Given the description of an element on the screen output the (x, y) to click on. 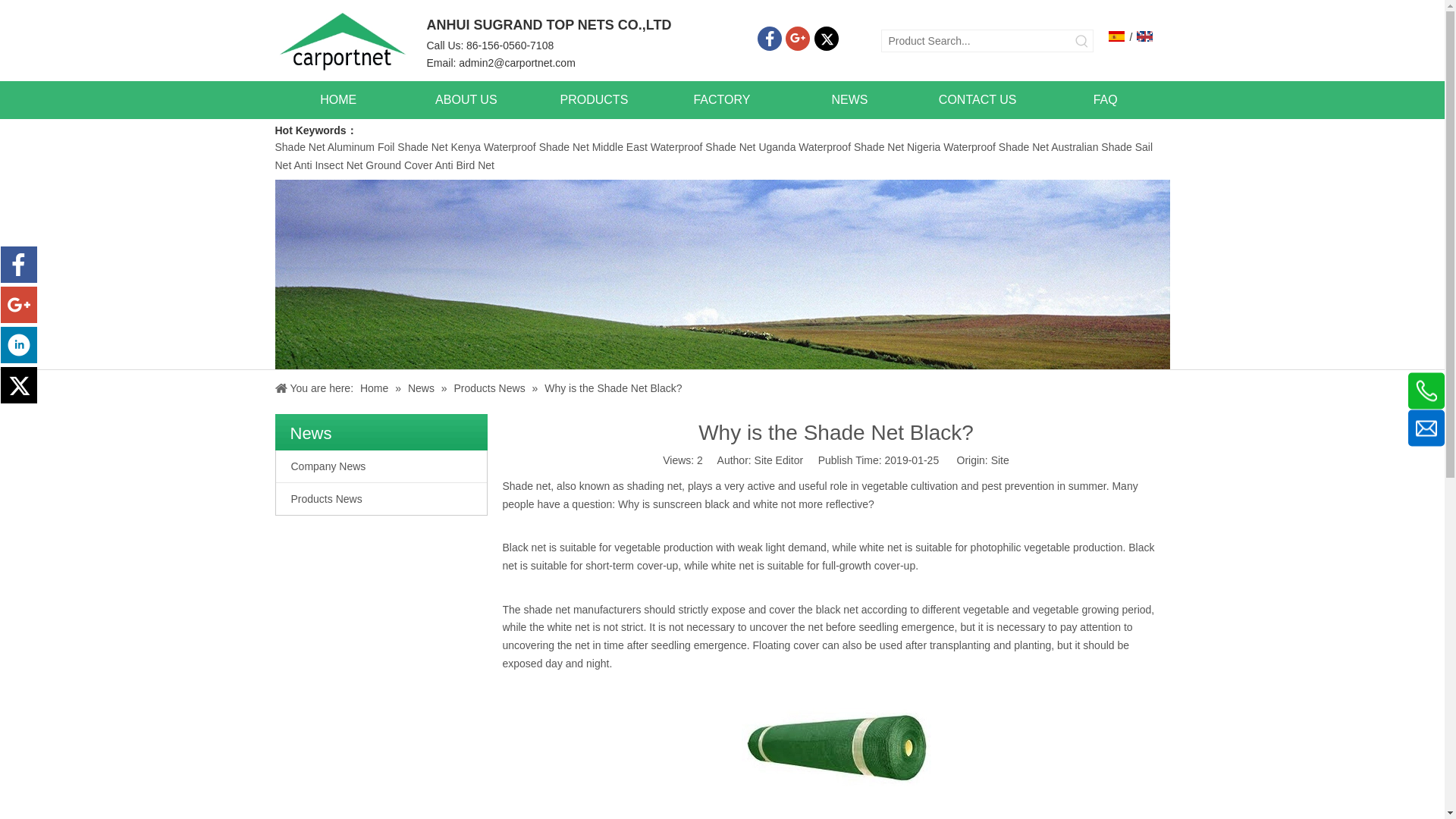
Products News (381, 499)
HOME (338, 99)
Uganda Waterproof Shade Net (831, 146)
Middle East Waterproof Shade Net (673, 146)
Aluminum Foil Shade Net  (389, 146)
Twitter (825, 38)
Anti Bird Net (464, 164)
ABOUT US (466, 99)
Facebook (769, 38)
Shade Net (300, 146)
Uganda Waterproof Shade Net (831, 146)
ANHUI SUGRAND TOP NETS CO.,LTD (342, 40)
Shade Net  (300, 146)
CONTACT US (977, 99)
